Given the description of an element on the screen output the (x, y) to click on. 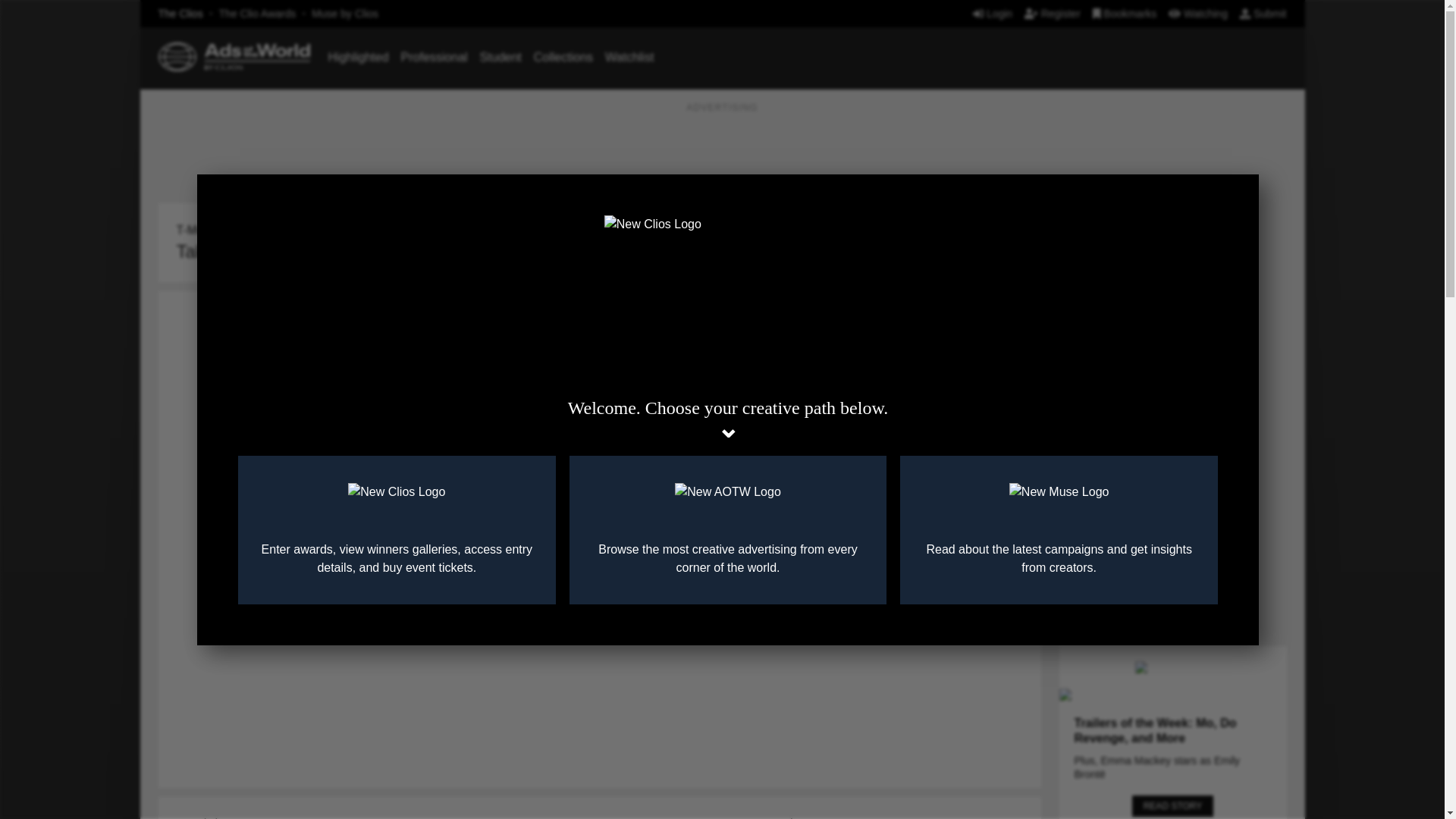
Register (1052, 13)
Collections (563, 56)
Muse by Clios (344, 13)
Professional (434, 56)
Watching (1198, 13)
Student (500, 56)
Login to Bookmark (1018, 209)
Watchlist (629, 56)
Highlighted (357, 56)
The Clio Awards (258, 13)
